Given the description of an element on the screen output the (x, y) to click on. 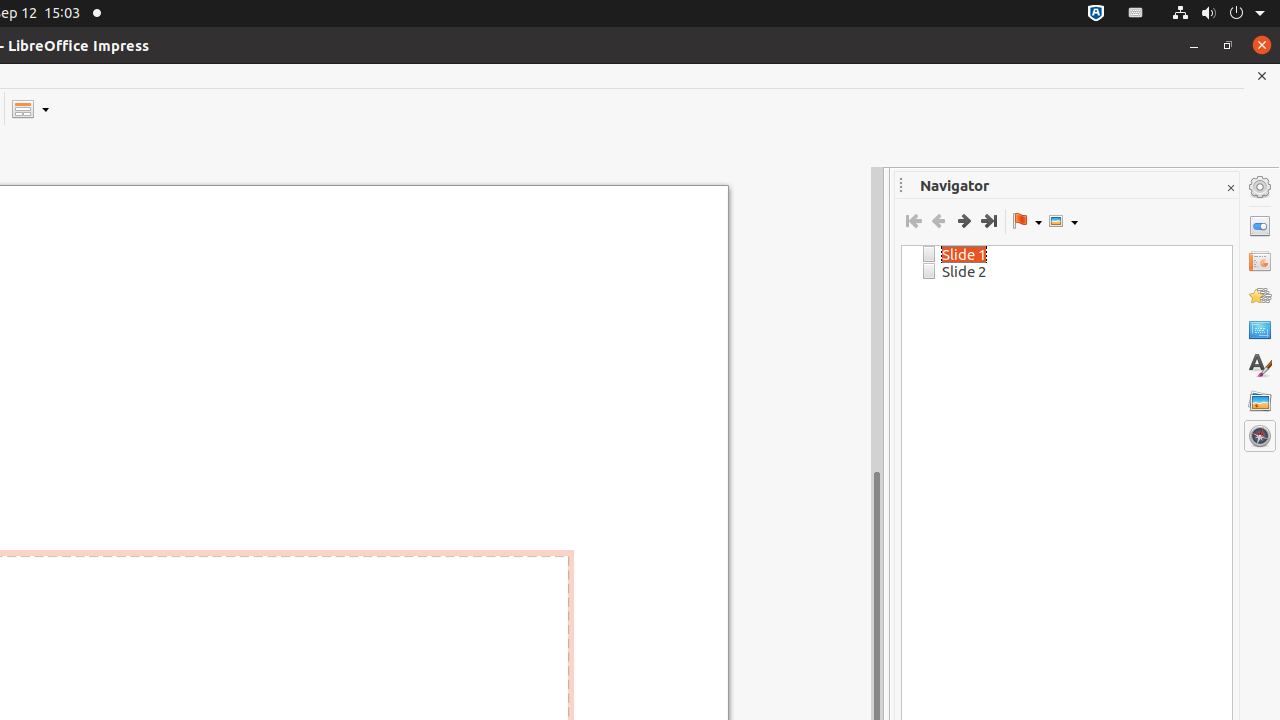
Drag Mode Element type: push-button (1027, 221)
